Given the description of an element on the screen output the (x, y) to click on. 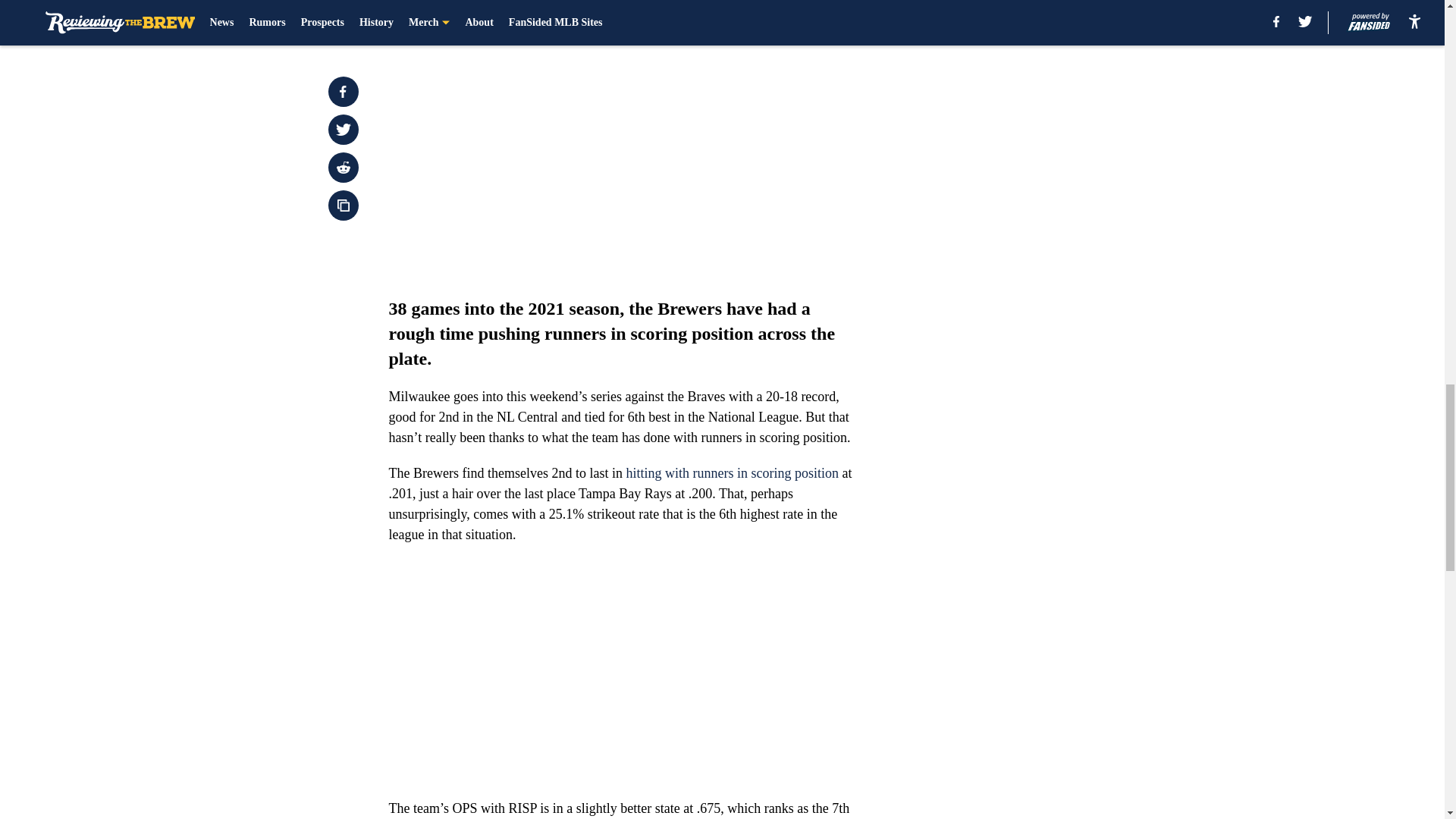
hitting with runners in scoring position (730, 473)
